Given the description of an element on the screen output the (x, y) to click on. 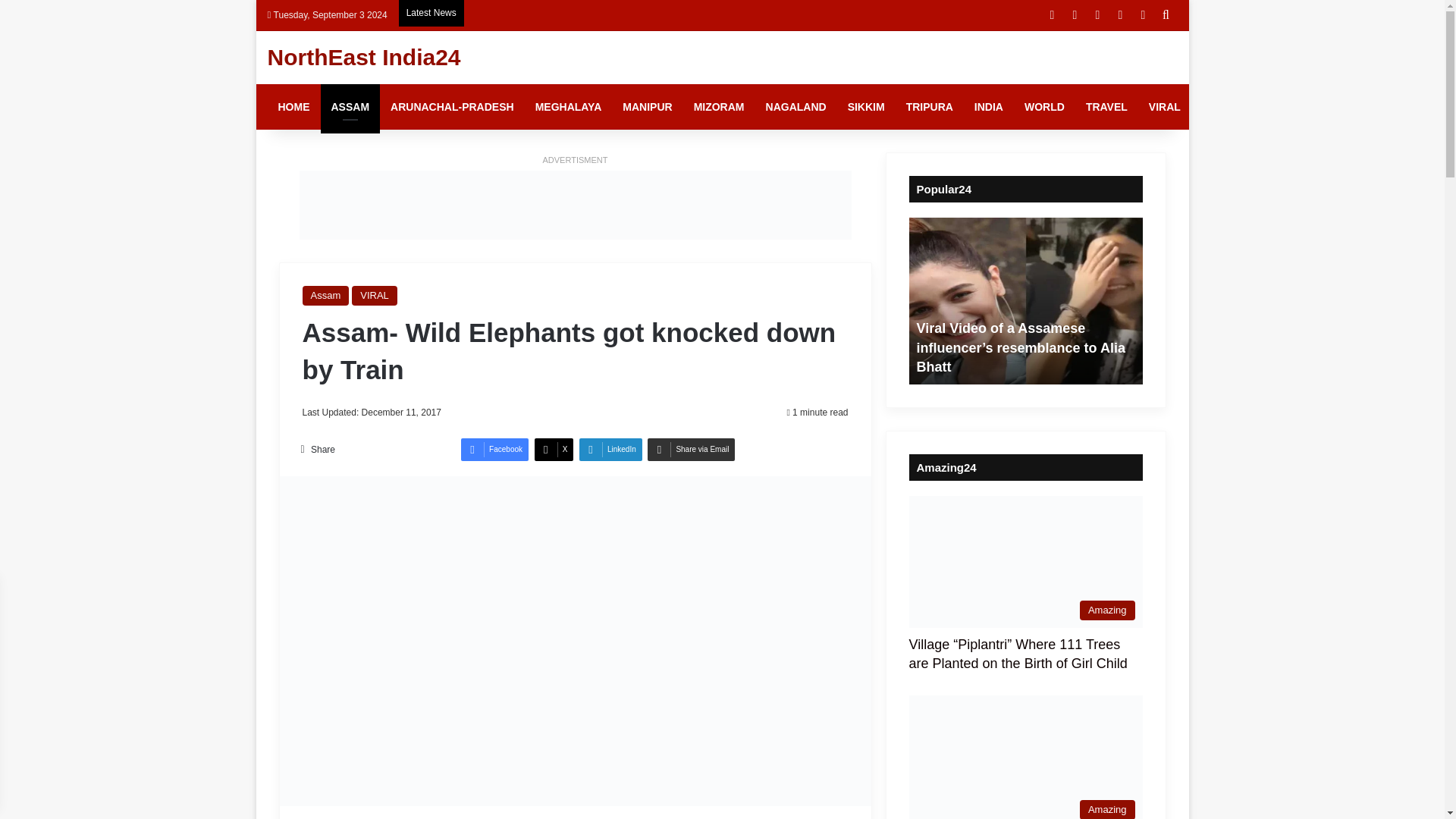
NAGALAND (796, 106)
Share via Email (691, 449)
SIKKIM (866, 106)
VIRAL (374, 295)
ARUNACHAL-PRADESH (452, 106)
LinkedIn (610, 449)
TRAVEL (1106, 106)
ADVERTISMENT  (575, 160)
HOME (293, 106)
MEGHALAYA (568, 106)
